Given the description of an element on the screen output the (x, y) to click on. 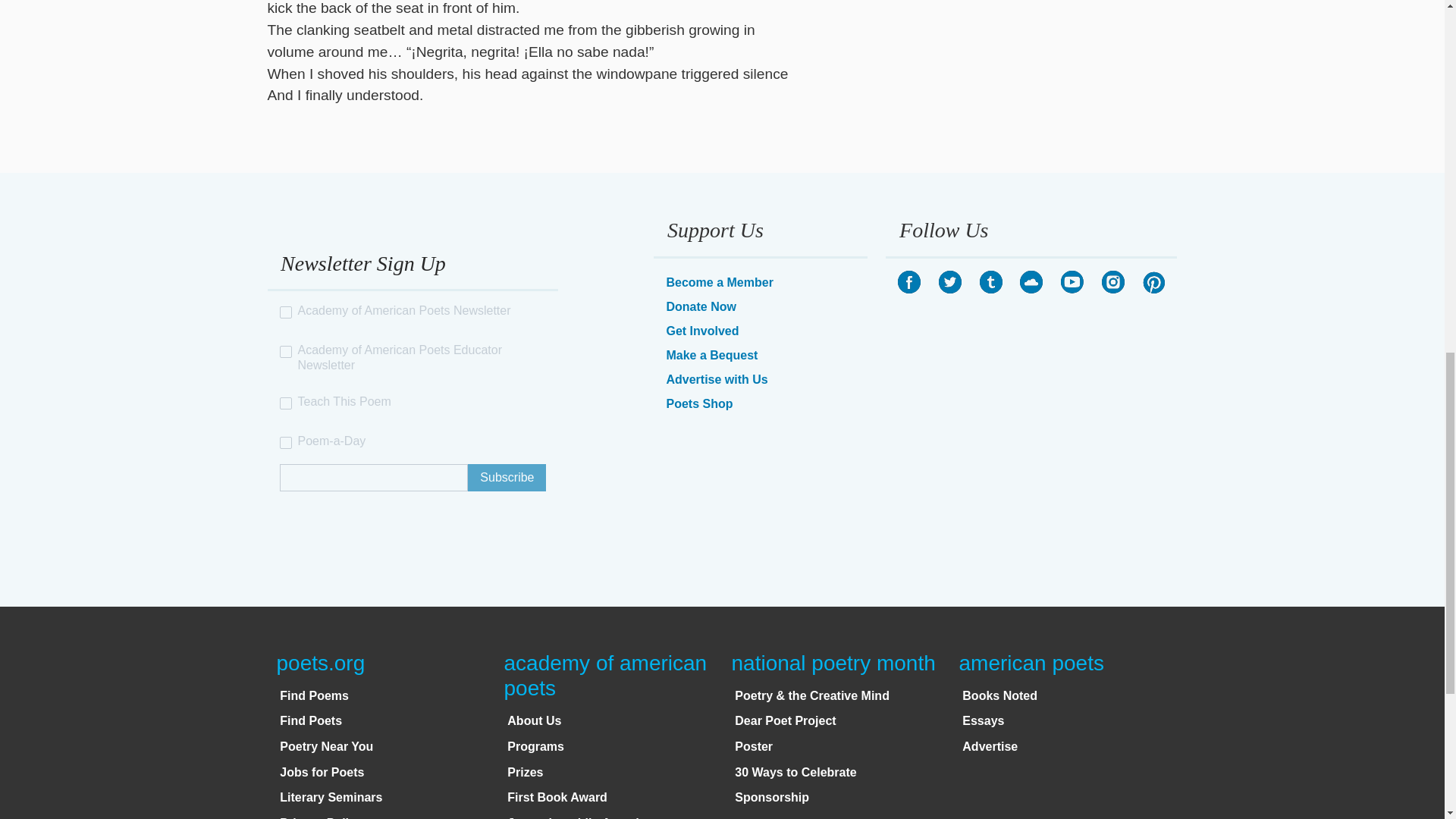
Donate Now (700, 306)
Jobs for Poets (321, 771)
Subscribe (506, 477)
Poetry Near You (325, 746)
Instagram (1113, 282)
Advertise with Us (716, 379)
Poets Shop (698, 403)
Make a Bequest (711, 354)
Become a Member (719, 282)
SoundCloud (1031, 282)
